Given the description of an element on the screen output the (x, y) to click on. 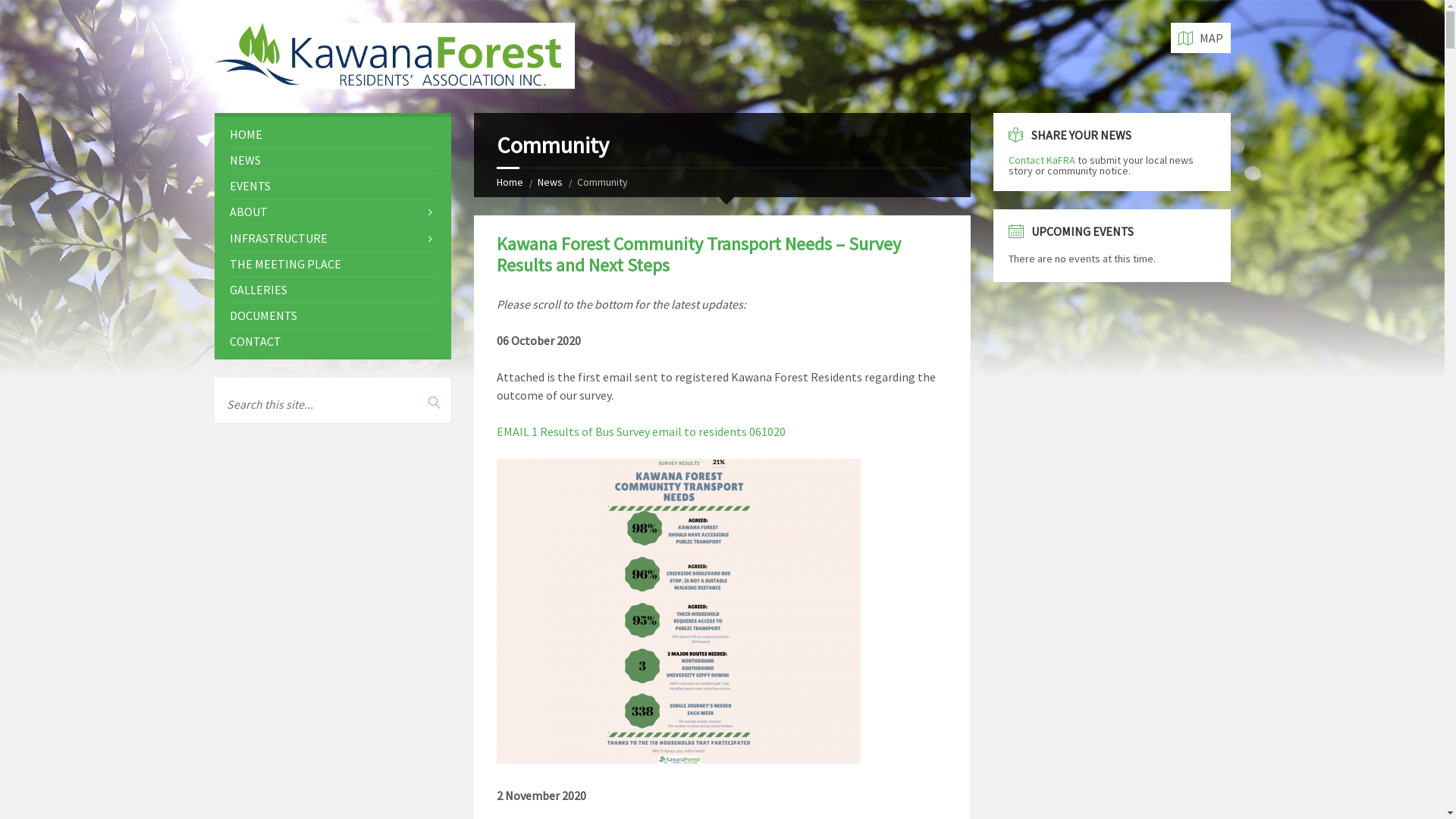
CONTACT Element type: text (332, 341)
Home Element type: text (509, 181)
NEWS Element type: text (332, 159)
DOCUMENTS Element type: text (332, 315)
EVENTS Element type: text (332, 185)
INFRASTRUCTURE Element type: text (332, 238)
ABOUT Element type: text (332, 211)
HOME Element type: text (332, 134)
MAP Element type: text (1200, 37)
EMAIL 1 Results of Bus Survey email to residents 061020 Element type: text (640, 431)
GALLERIES Element type: text (332, 289)
Contact KaFRA Element type: text (1041, 159)
THE MEETING PLACE Element type: text (332, 263)
News Element type: text (549, 181)
